Given the description of an element on the screen output the (x, y) to click on. 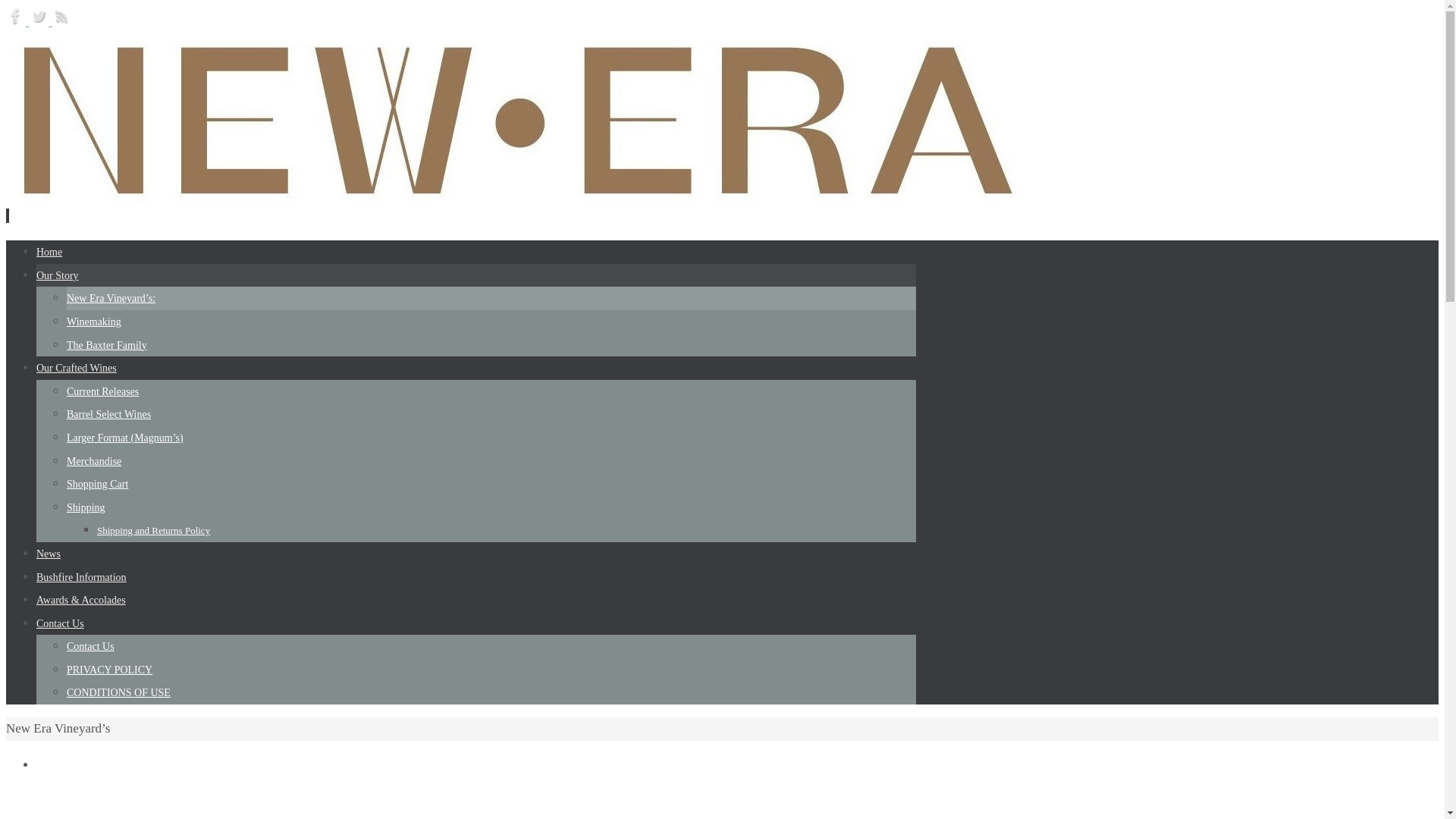
Awards & Accolades Element type: text (80, 599)
Our Story Element type: text (57, 275)
Shipping Element type: text (85, 507)
Merchandise Element type: text (93, 461)
Shipping and Returns Policy Element type: text (153, 530)
PRIVACY POLICY Element type: text (109, 669)
RSS Element type: hover (61, 21)
News Element type: text (48, 553)
Facebook Element type: hover (17, 21)
The Baxter Family Element type: text (106, 345)
Winemaking Element type: text (93, 321)
Our Crafted Wines Element type: text (76, 367)
Shopping Cart Element type: text (97, 483)
Home Element type: text (49, 251)
Contact Us Element type: text (90, 646)
Current Releases Element type: text (102, 391)
CONDITIONS OF USE Element type: text (118, 692)
  Element type: text (7, 215)
Twitter Element type: hover (39, 21)
Barrel Select Wines Element type: text (108, 414)
Bushfire Information Element type: text (81, 577)
Contact Us Element type: text (60, 623)
